Given the description of an element on the screen output the (x, y) to click on. 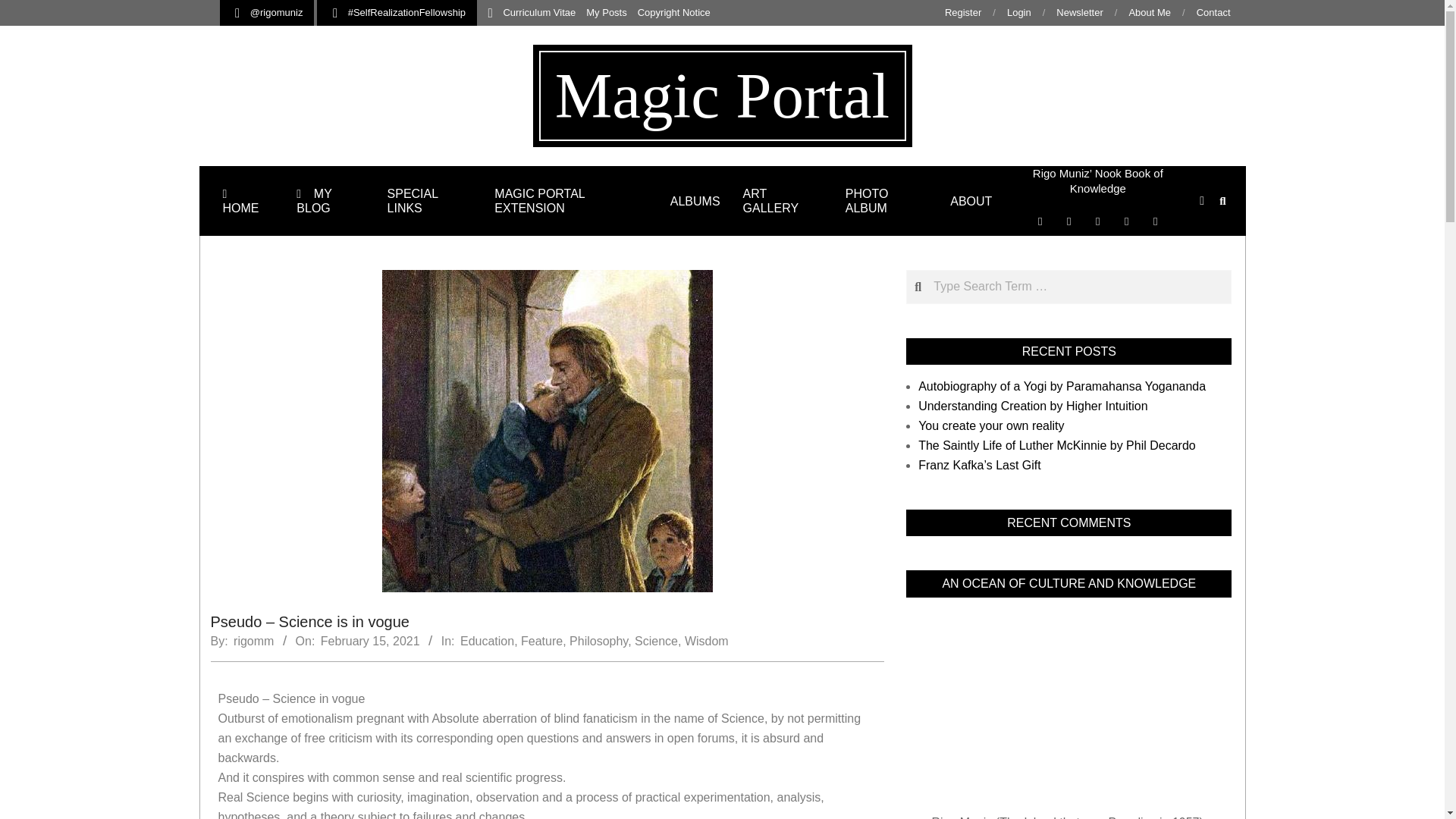
MY BLOG (330, 200)
HOME (248, 200)
ART GALLERY (783, 200)
ABOUT (971, 201)
Register (962, 12)
Newsletter (1079, 12)
Posts by rigomm (252, 640)
Contact (1213, 12)
Feature (541, 640)
